Given the description of an element on the screen output the (x, y) to click on. 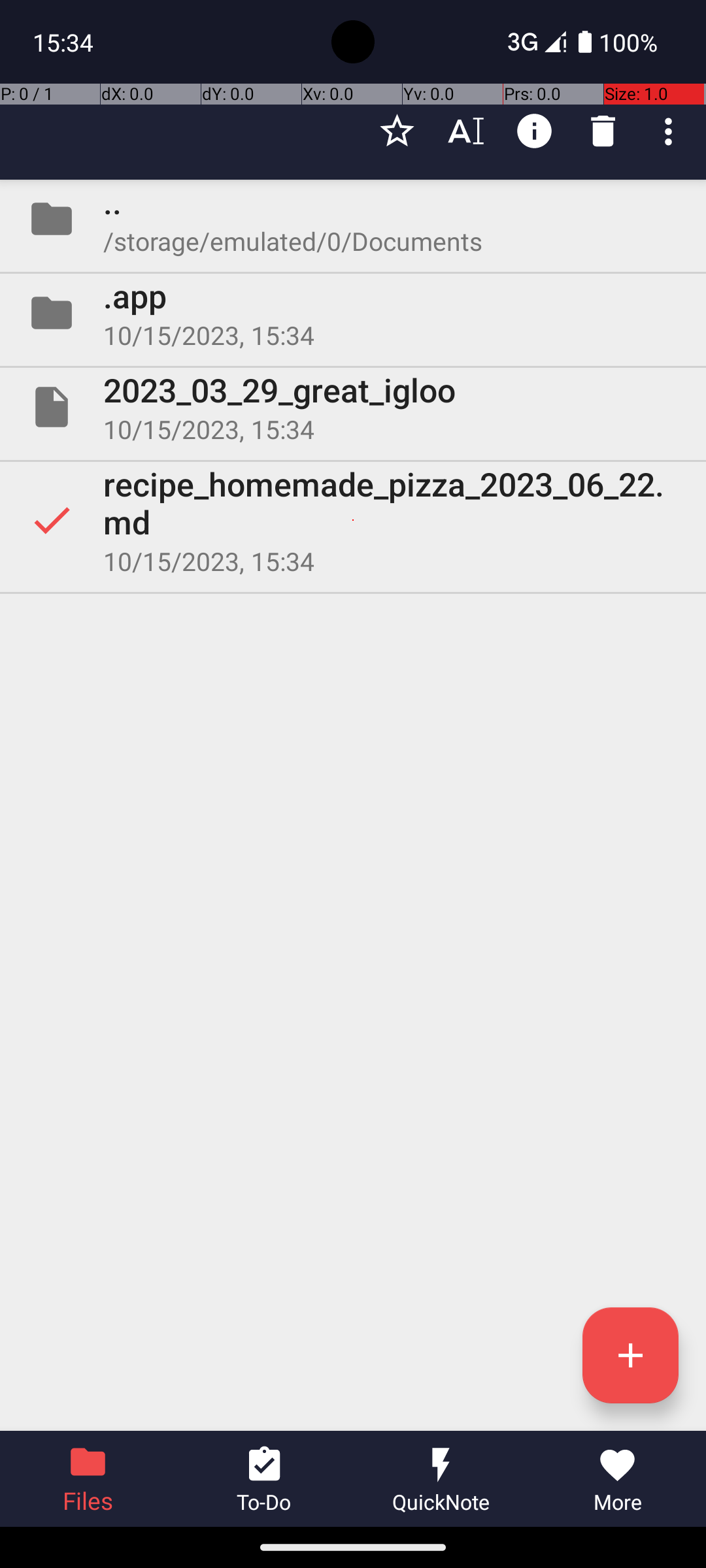
Favourite Element type: android.widget.TextView (396, 131)
Rename Element type: android.widget.TextView (465, 131)
Details Element type: android.widget.TextView (534, 131)
Folder .. /storage/emulated/0 Element type: android.widget.LinearLayout (353, 218)
Folder .app 10/15/2023, 15:34 Element type: android.widget.LinearLayout (353, 312)
File 2023_03_29_great_igloo 10/15/2023, 15:34 Element type: android.widget.LinearLayout (353, 406)
Selected recipe_homemade_pizza_2023_06_22.md  Element type: android.widget.LinearLayout (353, 519)
